Given the description of an element on the screen output the (x, y) to click on. 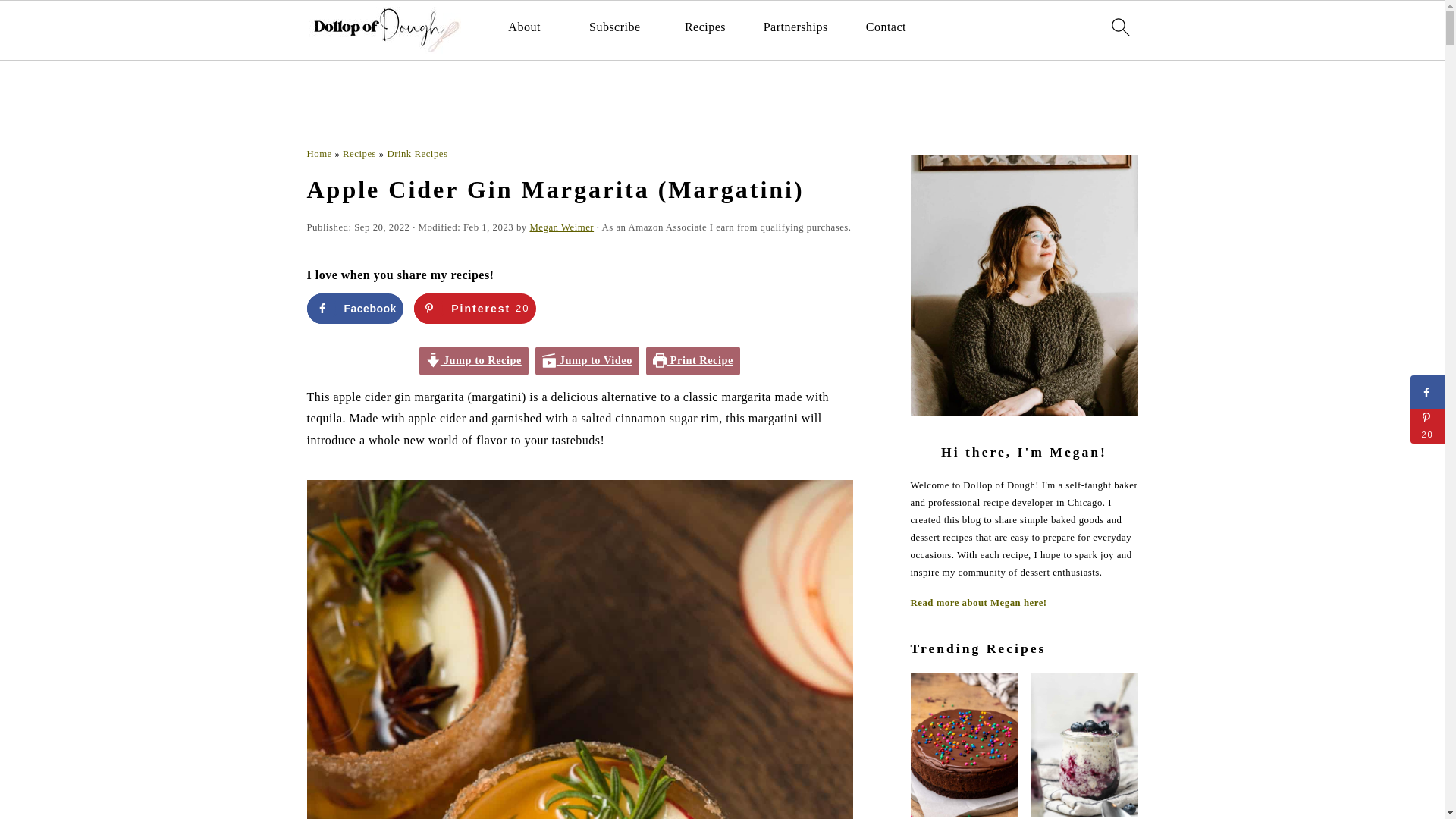
Partnerships (795, 26)
Recipes (704, 26)
search icon (1119, 26)
About (524, 26)
Share on Facebook (354, 308)
Home (318, 153)
Contact (885, 26)
Subscribe (614, 26)
Save to Pinterest (474, 308)
